Given the description of an element on the screen output the (x, y) to click on. 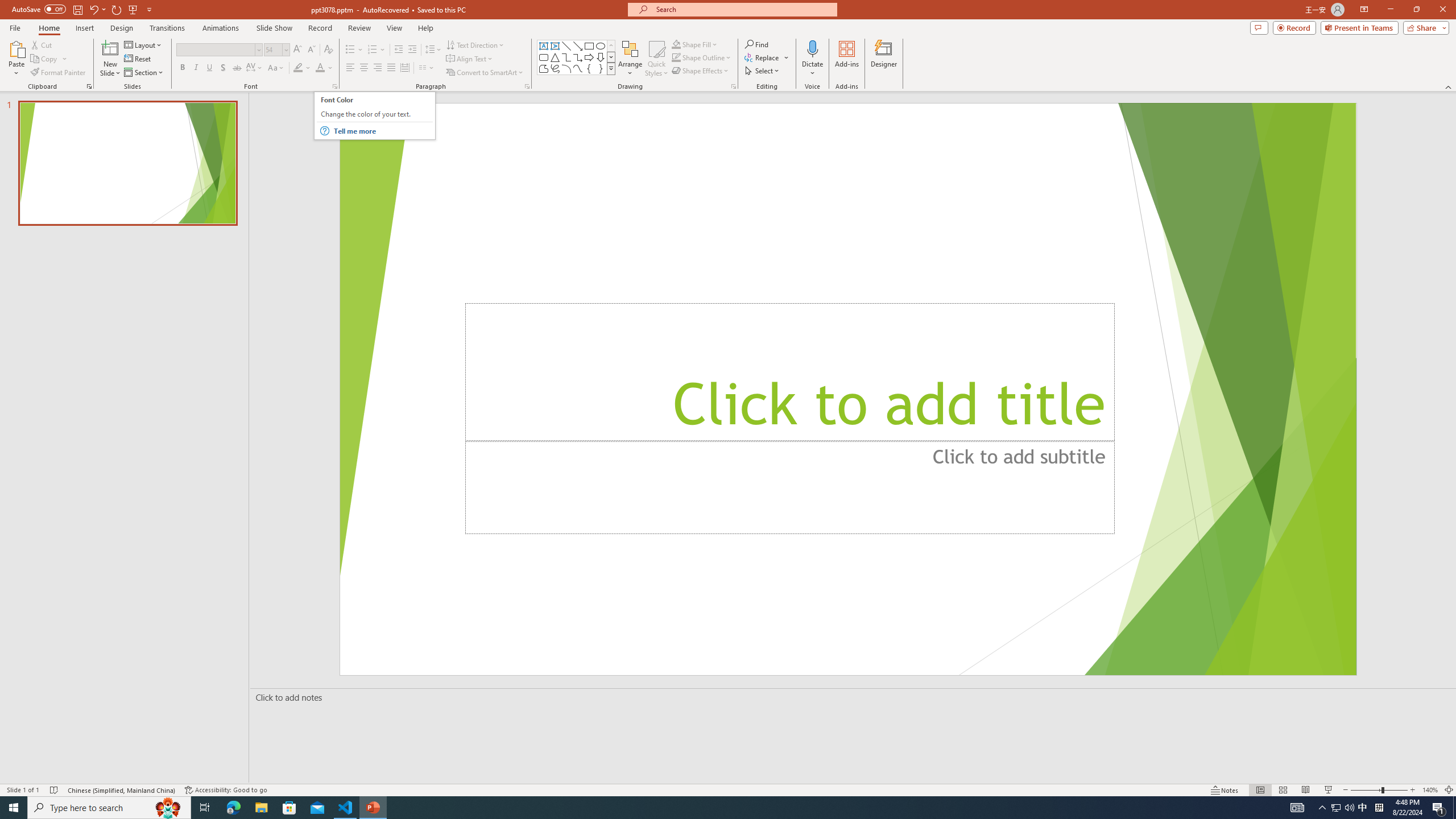
Arrow: Right (589, 57)
Row up (611, 45)
Reset (138, 58)
Dictate (812, 48)
Spell Check No Errors (54, 790)
Replace... (767, 56)
Shape Fill Dark Green, Accent 2 (675, 44)
Paste (16, 48)
Increase Indent (412, 49)
Change Case (276, 67)
Line Spacing (433, 49)
From Beginning (133, 9)
Align Left (374, 115)
